Given the description of an element on the screen output the (x, y) to click on. 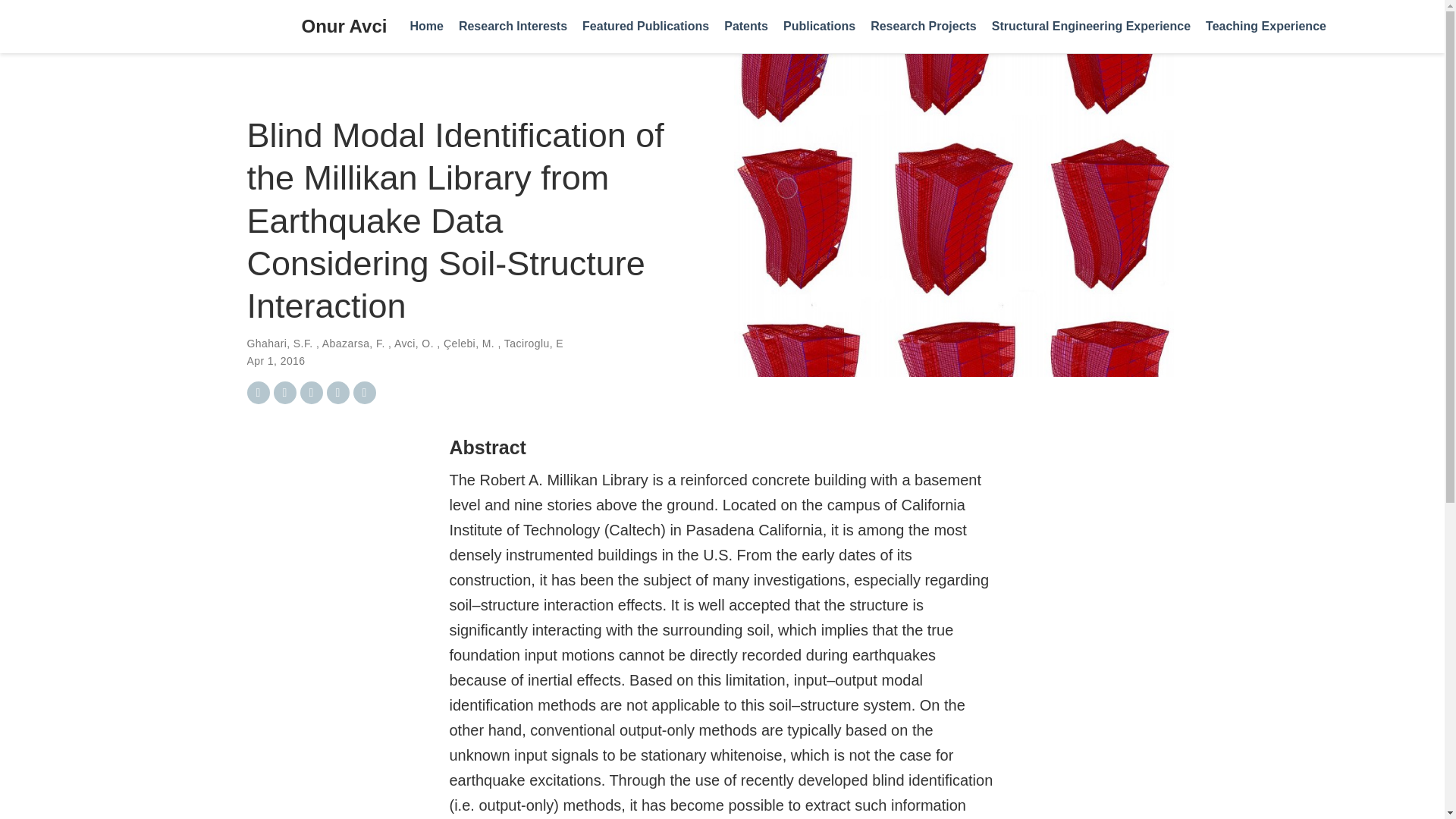
Publications (819, 26)
Structural Engineering Experience (1091, 26)
Featured Publications (645, 26)
Research Interests (513, 26)
Home (425, 26)
Teaching Experience (1265, 26)
Onur Avci (344, 26)
Patents (746, 26)
Research Projects (923, 26)
